Given the description of an element on the screen output the (x, y) to click on. 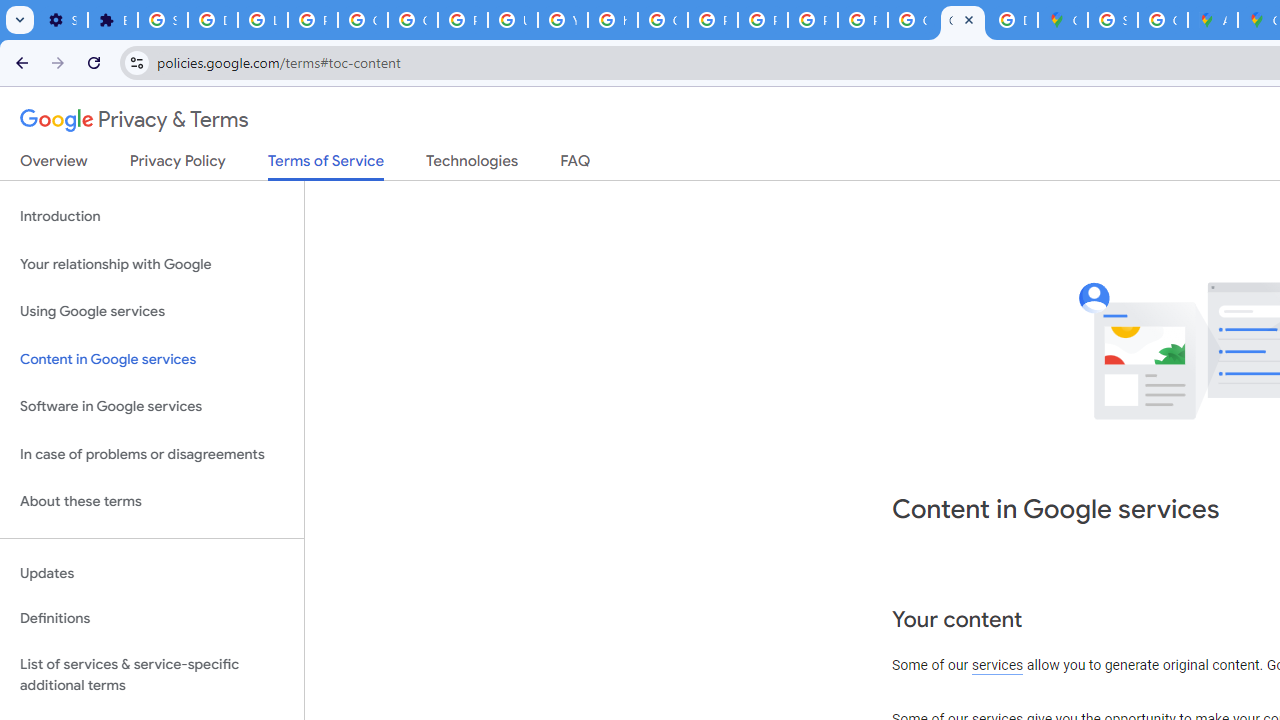
Settings - On startup (62, 20)
Delete photos & videos - Computer - Google Photos Help (213, 20)
Terms of Service (326, 166)
